Given the description of an element on the screen output the (x, y) to click on. 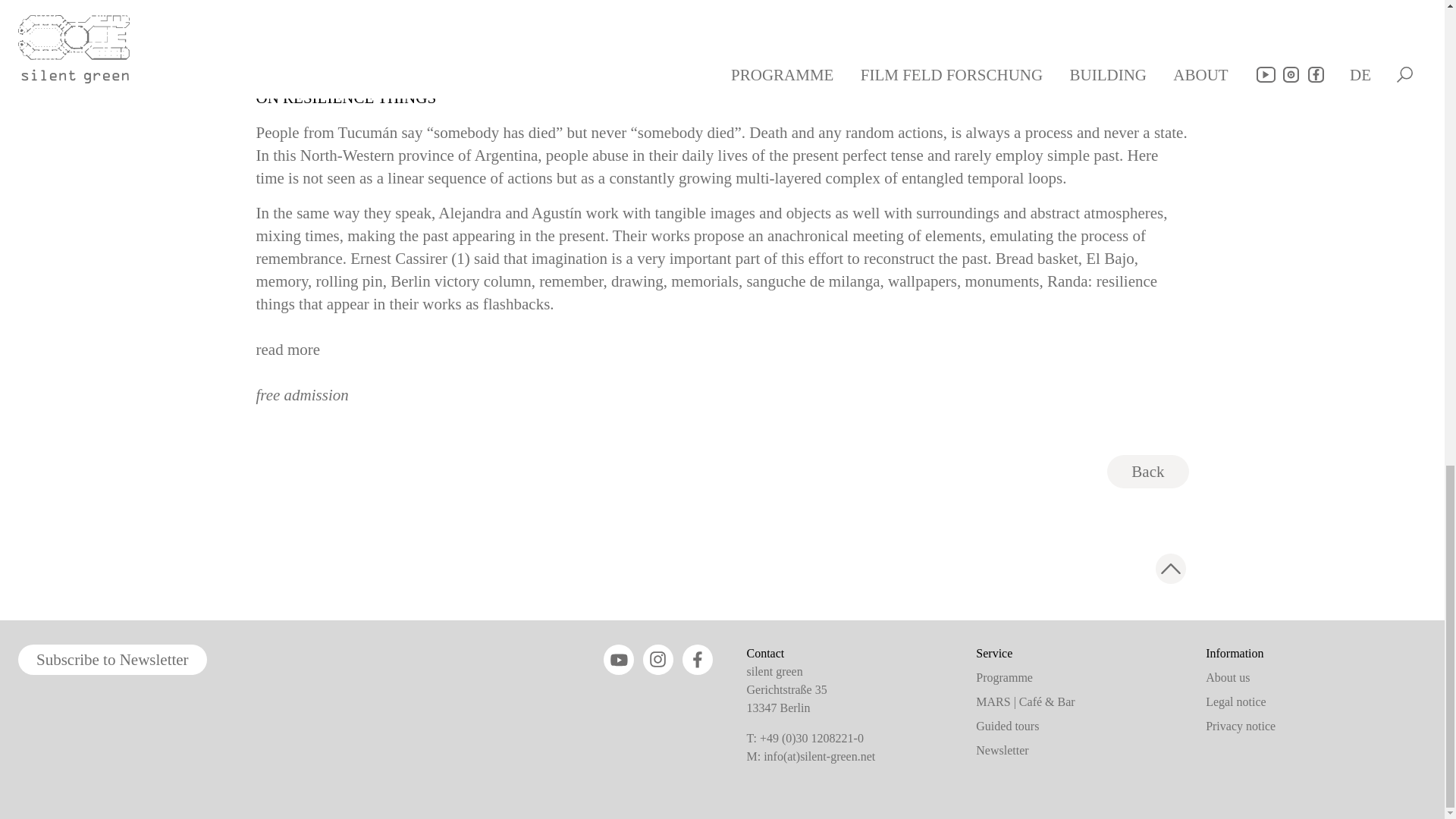
silent green on Youtube (618, 659)
silent green on Instagram (657, 659)
Back (1147, 471)
silent green on Facebook (697, 659)
To top (1171, 568)
Programme (1003, 676)
Subscribe to Newsletter (111, 659)
